Given the description of an element on the screen output the (x, y) to click on. 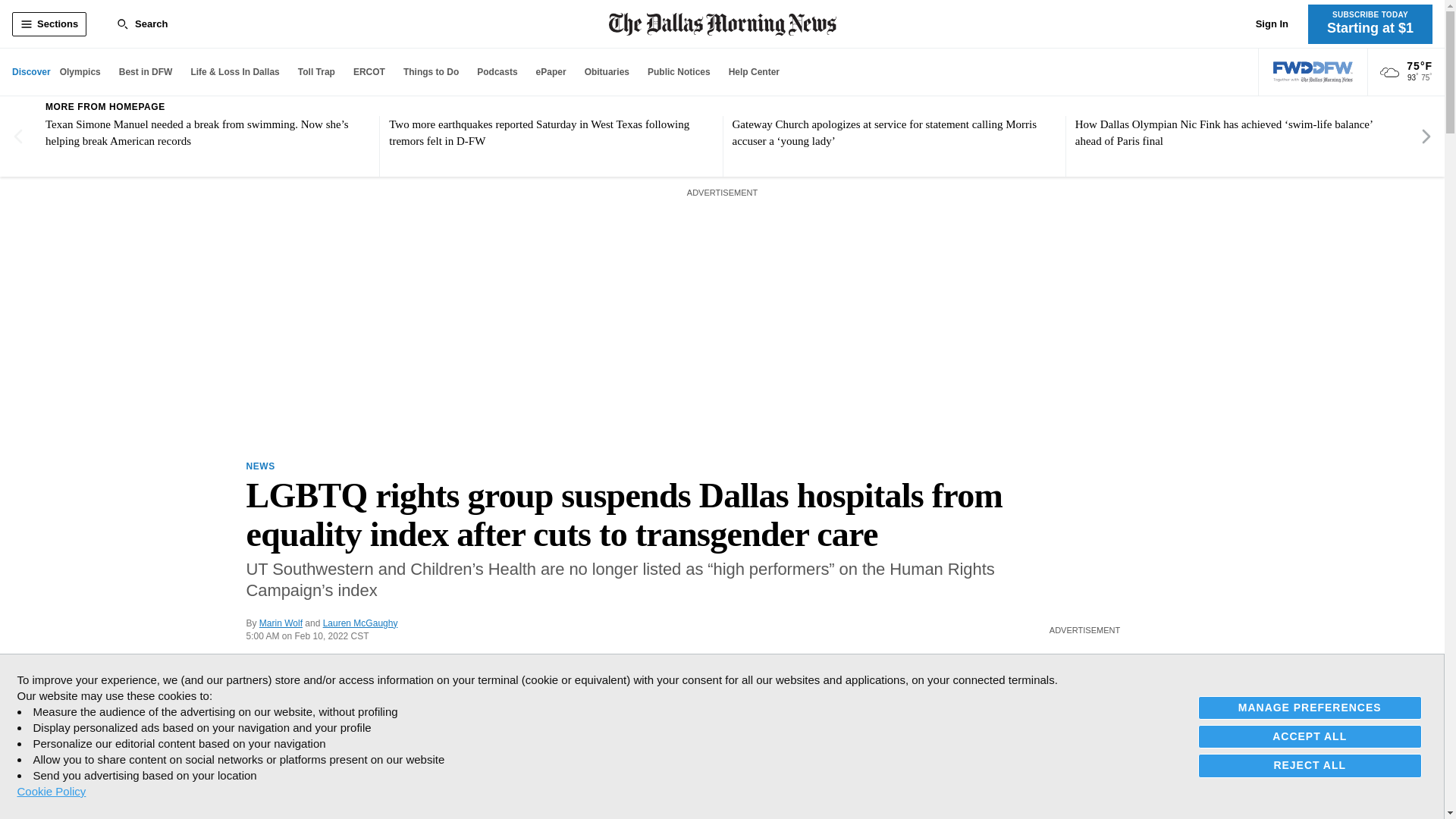
Overcast clouds (1389, 72)
REJECT ALL (1310, 765)
ACCEPT ALL (1310, 736)
Cookie Policy (50, 790)
MANAGE PREFERENCES (1310, 707)
FWD DFW, Together with The Dallas Morning News (1313, 72)
